Given the description of an element on the screen output the (x, y) to click on. 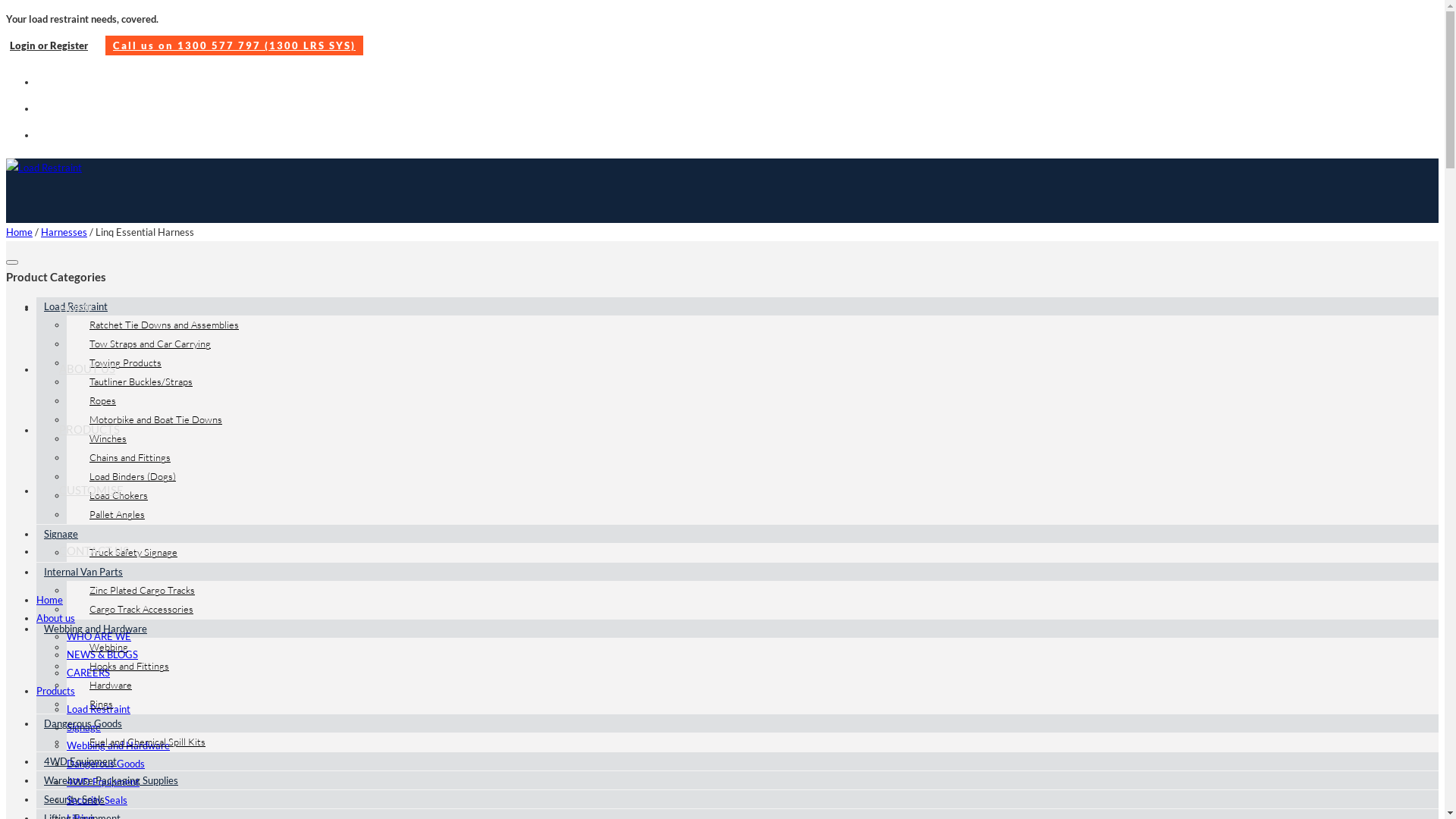
Cargo Track Accessories Element type: text (137, 608)
Webbing and Hardware Element type: text (117, 745)
Webbing and Hardware Element type: text (91, 628)
Login or Register Element type: text (54, 45)
Ratchet Tie Downs and Assemblies Element type: text (159, 324)
Dangerous Goods Element type: text (105, 763)
CONTACT US Element type: text (93, 550)
Load Chokers Element type: text (114, 495)
Security Seals Element type: text (70, 799)
Truck Safety Signage Element type: text (129, 552)
Motorbike and Boat Tie Downs Element type: text (151, 419)
Towing Products Element type: text (121, 362)
Internal Van Parts Element type: text (79, 571)
NEWS & BLOGS Element type: text (102, 654)
Zinc Plated Cargo Tracks Element type: text (137, 589)
WHO ARE WE Element type: text (98, 636)
Security Seals Element type: text (96, 799)
Tautliner Buckles/Straps Element type: text (136, 381)
Warehouse Packaging Supplies Element type: text (107, 780)
4WD Equipment Element type: text (102, 781)
Pallet Angles Element type: text (112, 514)
Call us on 1300 577 797 (1300 LRS SYS) Element type: text (234, 45)
Home Element type: text (19, 231)
HOME Element type: text (76, 307)
Winches Element type: text (103, 438)
About us Element type: text (55, 617)
Hardware Element type: text (106, 684)
Fuel and Chemical Spill Kits Element type: text (143, 741)
CAREERS Element type: text (87, 672)
Dangerous Goods Element type: text (79, 723)
Signage Element type: text (83, 727)
Hooks and Fittings Element type: text (125, 665)
4WD Equipment Element type: text (76, 761)
Signage Element type: text (57, 533)
Rings Element type: text (96, 703)
Chains and Fittings Element type: text (125, 457)
Load Restraint Element type: hover (78, 203)
Load Restraint Element type: text (71, 306)
PRODUCTS Element type: text (89, 429)
Load Binders (Dogs) Element type: text (128, 476)
Products Element type: text (55, 690)
Harnesses Element type: text (63, 231)
Webbing Element type: text (104, 646)
CUSTOMISE Element type: text (91, 489)
ABOUT US Element type: text (87, 368)
Home Element type: text (49, 599)
Tow Straps and Car Carrying Element type: text (145, 343)
Ropes Element type: text (98, 400)
Load Restraint Element type: text (98, 708)
